Given the description of an element on the screen output the (x, y) to click on. 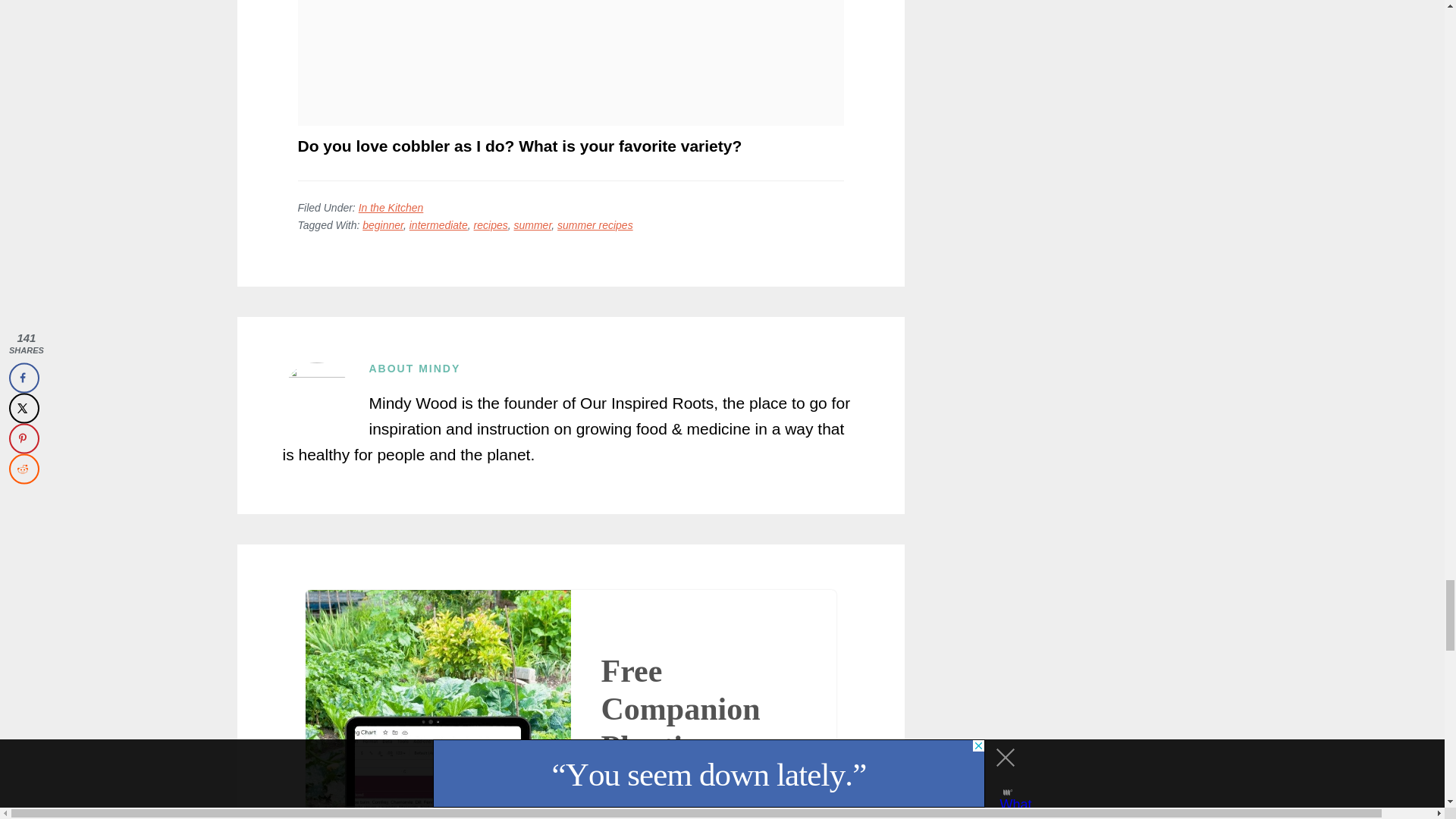
summer (532, 224)
In the Kitchen (390, 207)
intermediate (438, 224)
recipes (491, 224)
summer recipes (595, 224)
beginner (382, 224)
